Given the description of an element on the screen output the (x, y) to click on. 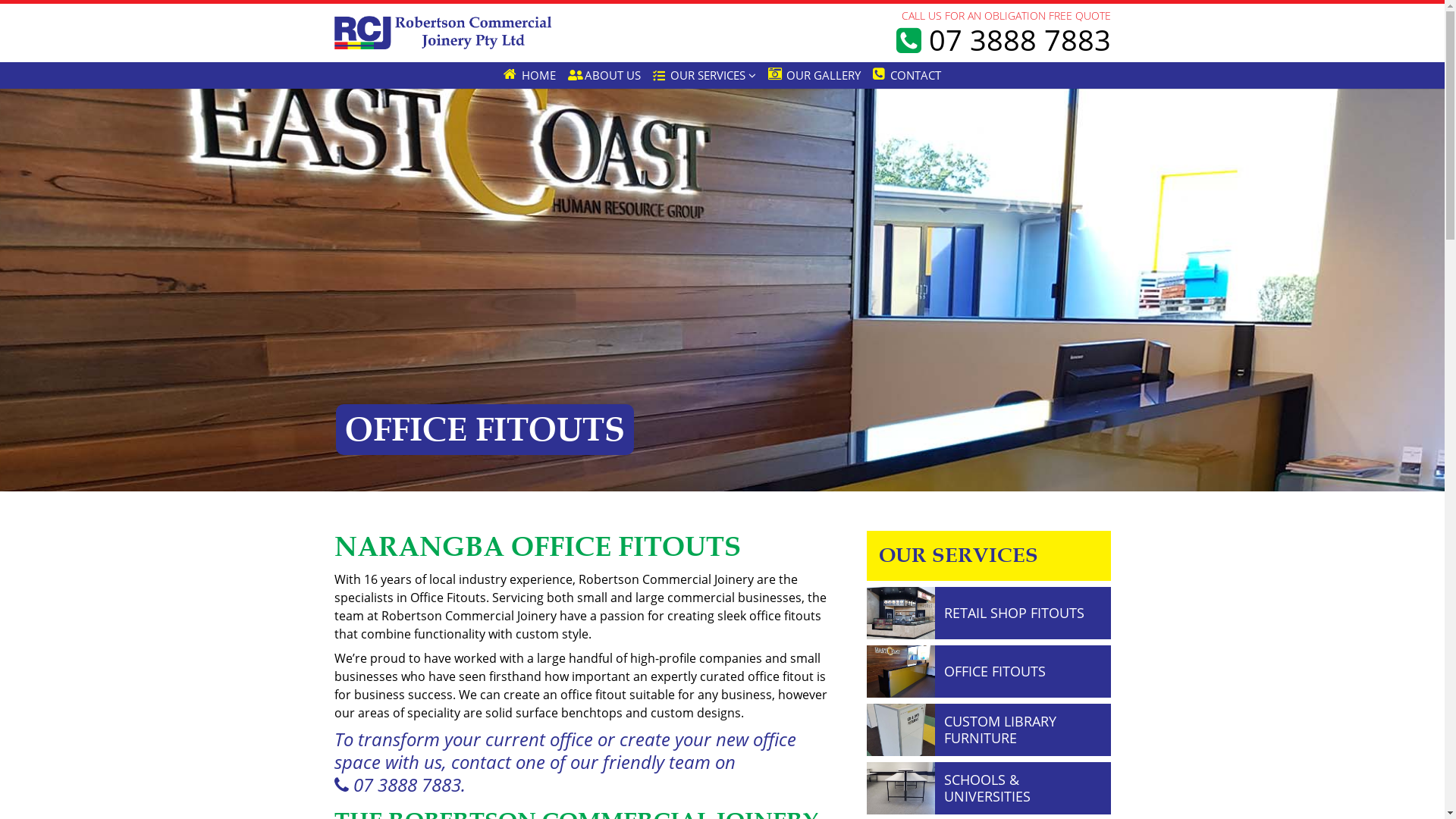
07 3888 7883 Element type: text (396, 784)
OFFICE FITOUTS Element type: text (994, 671)
CUSTOM LIBRARY FURNITURE Element type: text (1000, 729)
RETAIL SHOP FITOUTS Element type: text (1014, 612)
ABOUT US Element type: text (604, 75)
OUR GALLERY Element type: text (814, 75)
Skip to content Element type: text (0, 86)
CONTACT Element type: text (906, 75)
07 3888 7883 Element type: text (1003, 39)
OUR SERVICES Element type: text (704, 75)
HOME Element type: text (529, 75)
SCHOOLS & UNIVERSITIES Element type: text (987, 787)
